Given the description of an element on the screen output the (x, y) to click on. 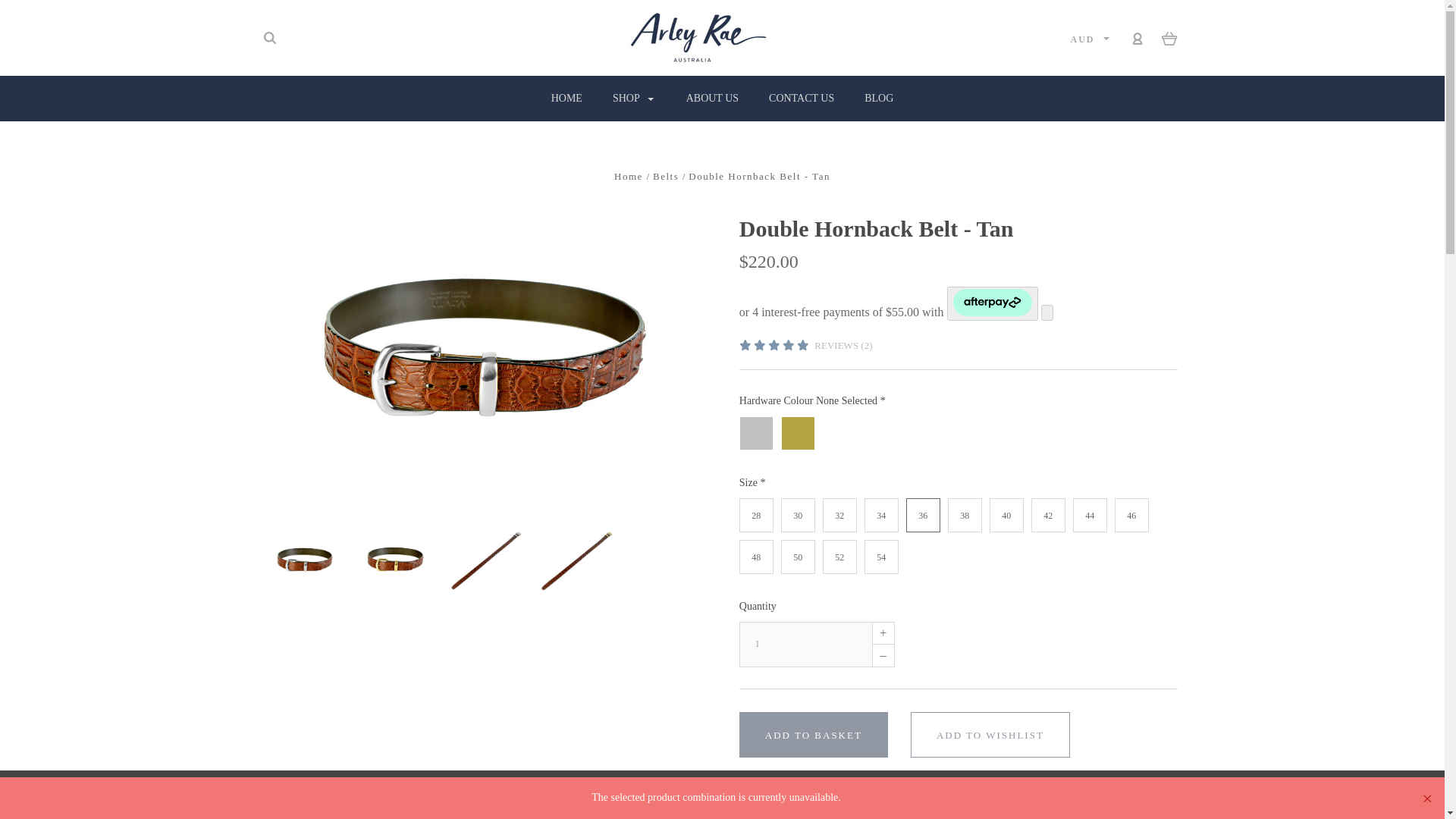
HOME (566, 99)
SHOP (633, 99)
1 (805, 644)
0 (1169, 37)
